Given the description of an element on the screen output the (x, y) to click on. 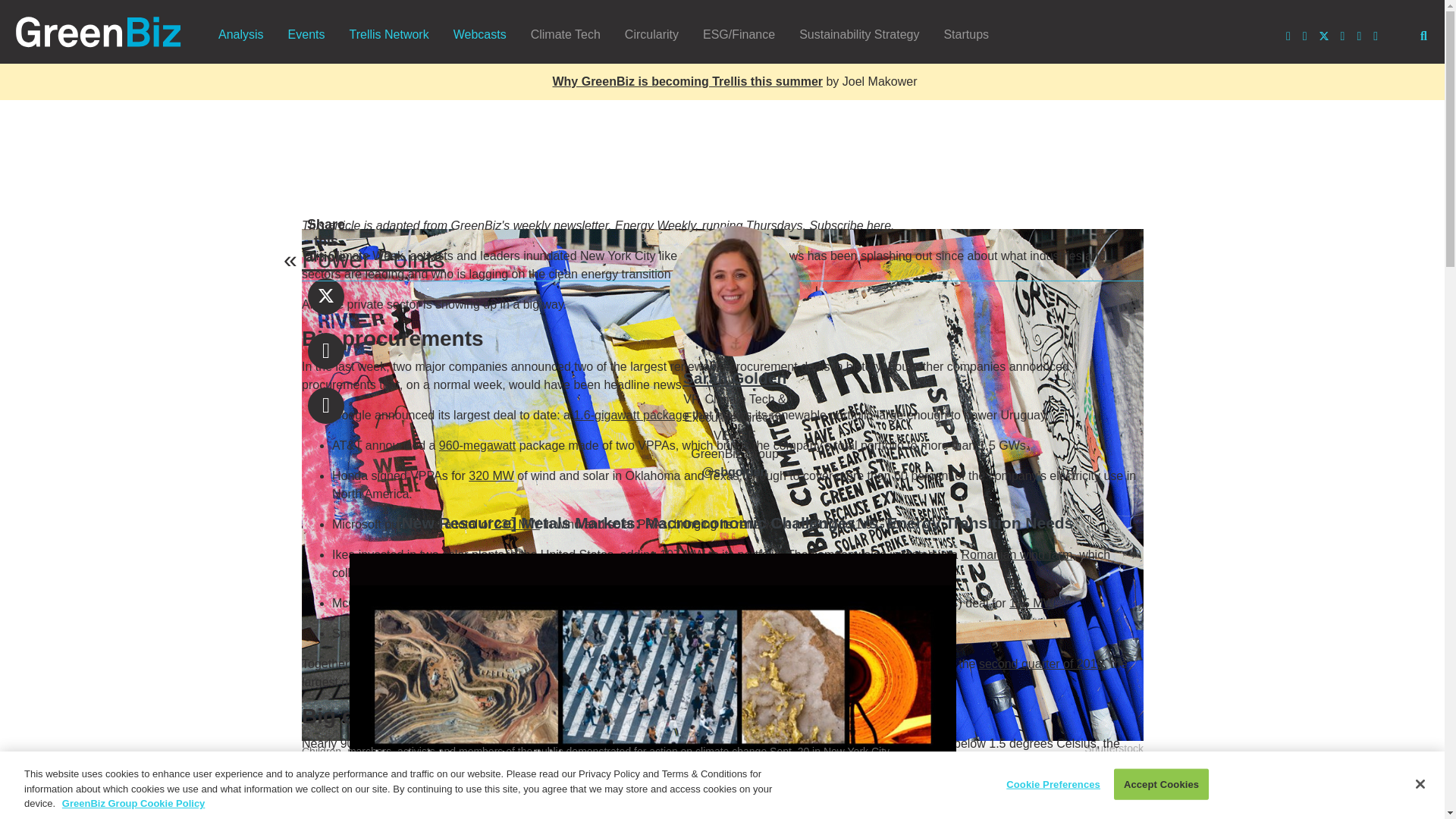
Shutterstock (1113, 748)
Why GreenBiz is becoming Trellis this summer (686, 81)
3rd party ad content (722, 158)
Circularity (651, 34)
Climate Tech (565, 34)
Webcasts (479, 34)
Trellis Network (388, 34)
Sarah Golden (357, 434)
Events (306, 34)
Analysis (241, 34)
Power Points (373, 258)
Sustainability Strategy (859, 34)
Facebook (325, 350)
Startups (966, 34)
